Given the description of an element on the screen output the (x, y) to click on. 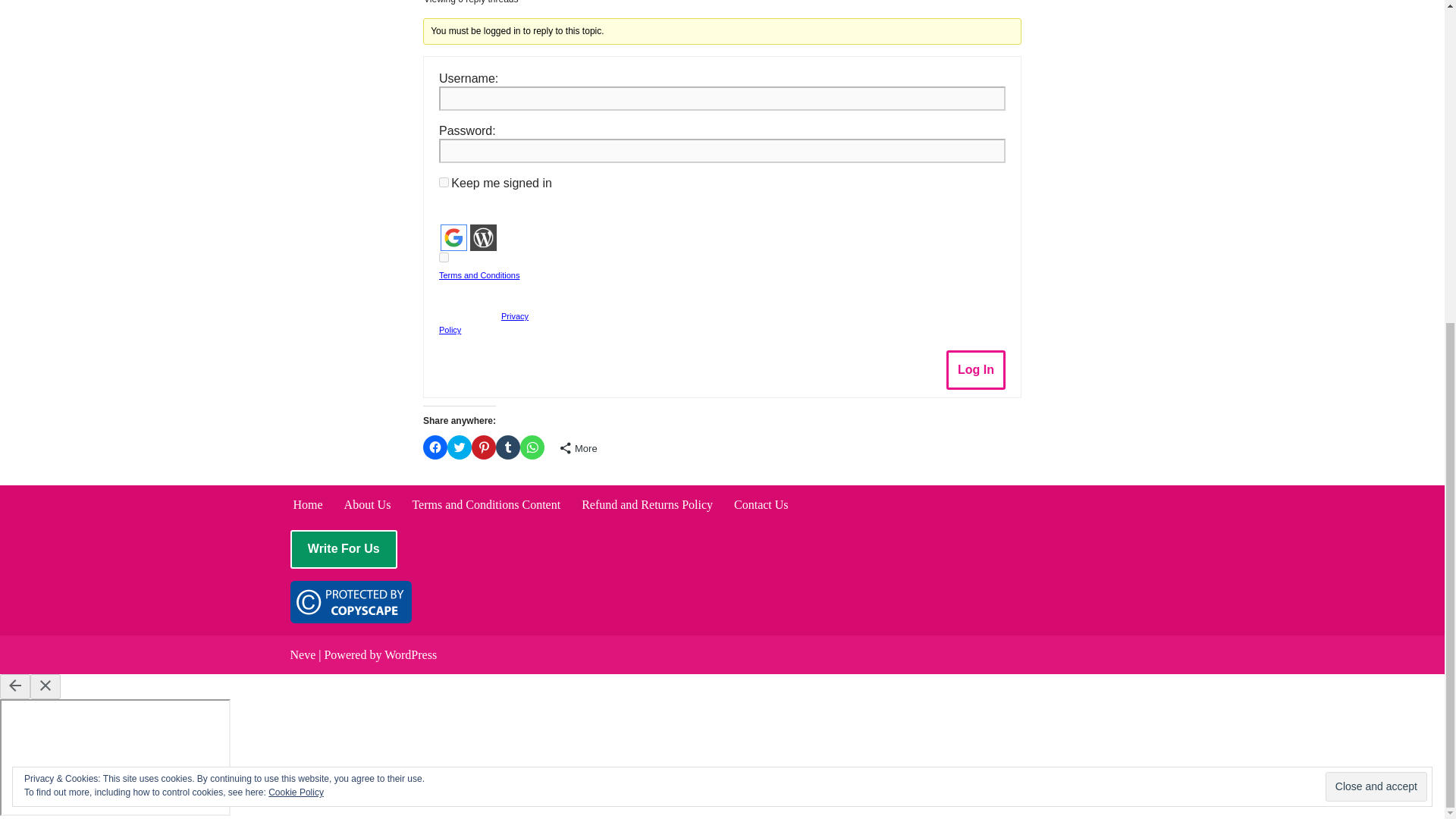
Login with Wordpress (483, 237)
Click to share on WhatsApp (531, 446)
forever (443, 182)
Close and accept (1375, 258)
Click to share on Tumblr (507, 446)
1 (443, 257)
Click to share on Pinterest (483, 446)
Click to share on Facebook (434, 446)
Login with Google (454, 237)
Click to share on Twitter (458, 446)
